Given the description of an element on the screen output the (x, y) to click on. 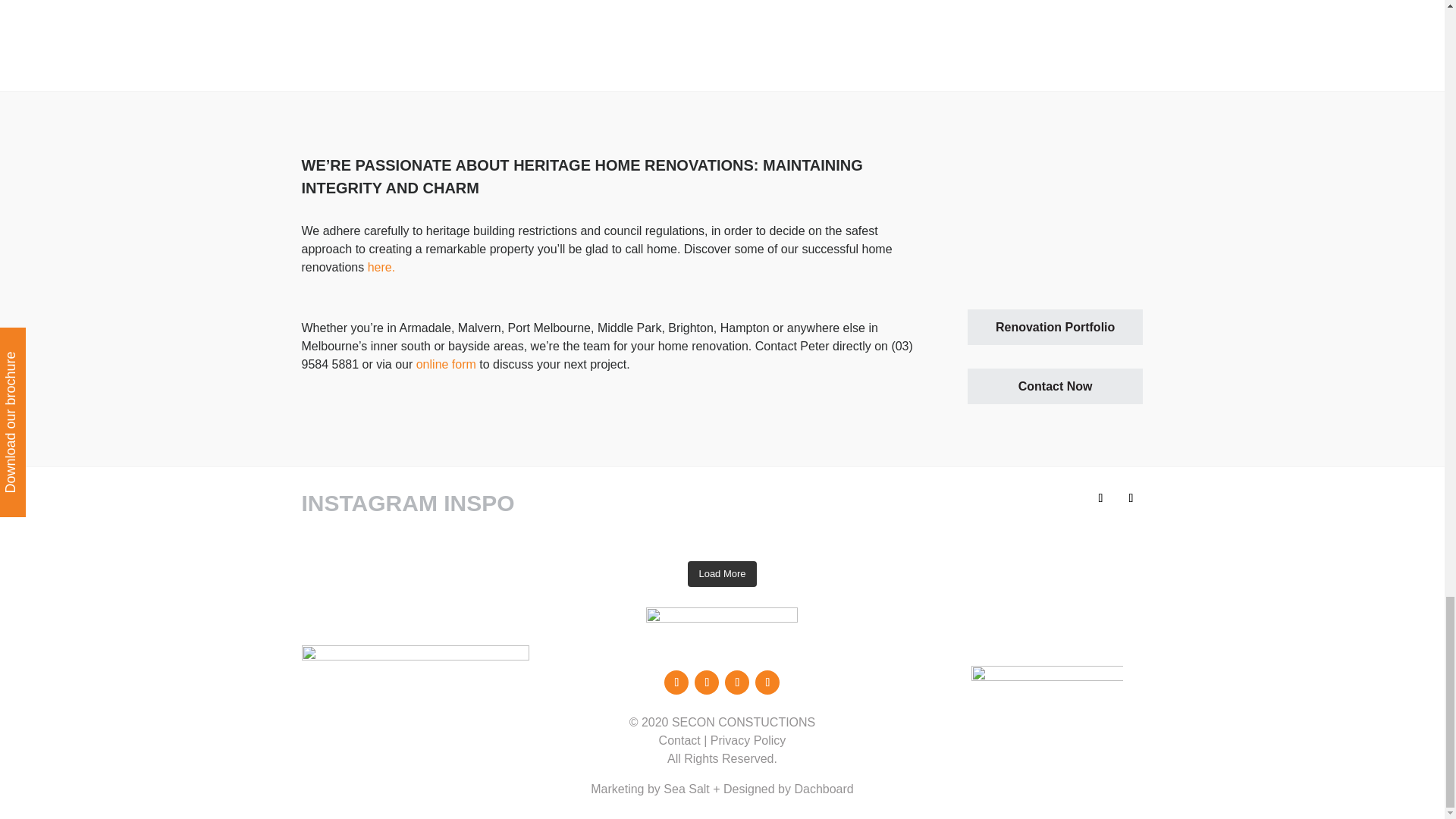
here. (381, 267)
Follow on Facebook (675, 682)
Renovation Portfolio (1055, 326)
Follow on LinkedIn (766, 682)
Follow on Instagram (1130, 498)
Contact Now (1055, 386)
Follow on Vimeo (737, 682)
online form (446, 364)
Follow on Facebook (1099, 498)
Follow on Instagram (706, 682)
